Given the description of an element on the screen output the (x, y) to click on. 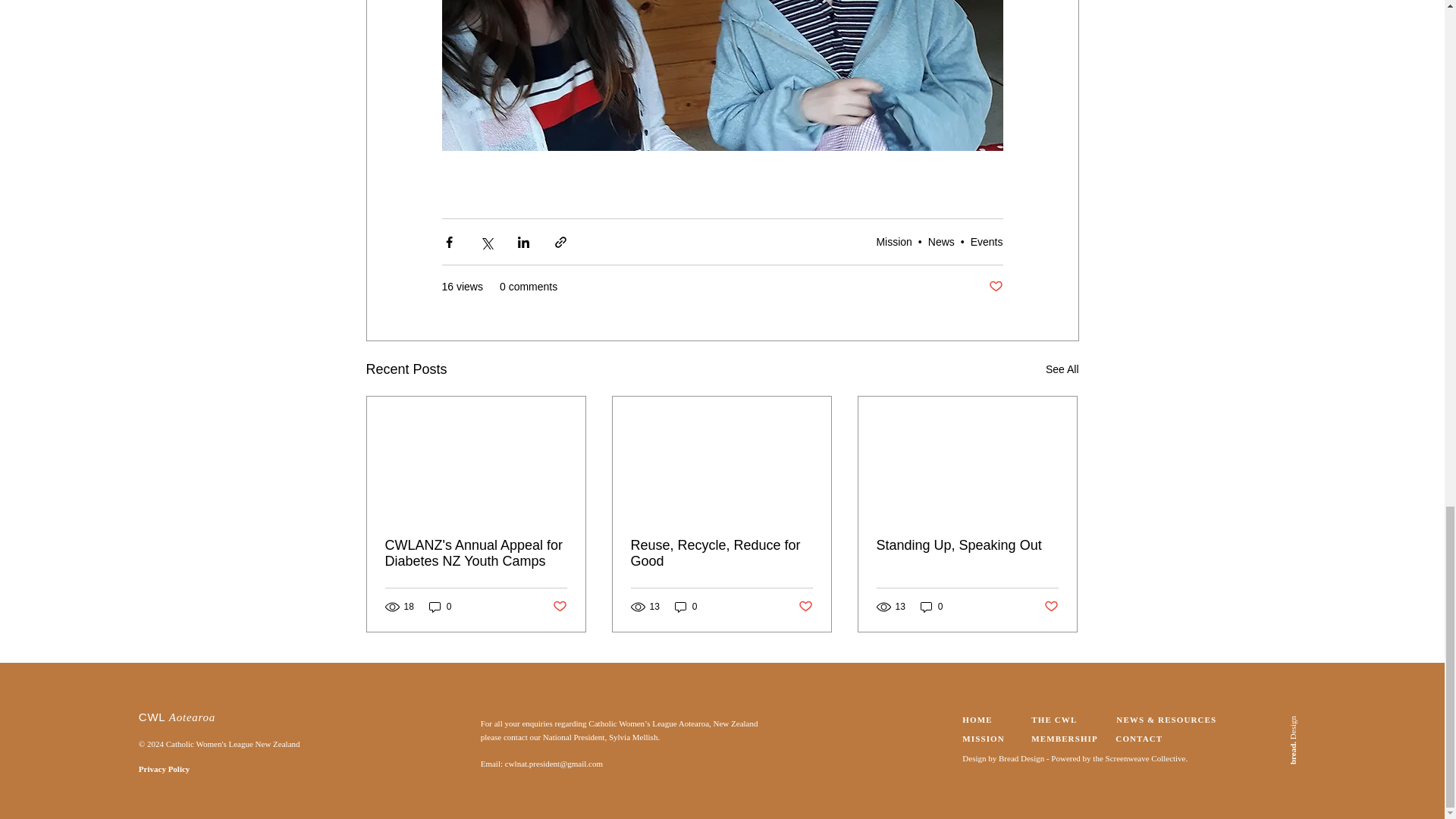
0 (440, 606)
News (941, 241)
0 (685, 606)
Reuse, Recycle, Reduce for Good (721, 553)
Events (987, 241)
See All (1061, 369)
CWLANZ's Annual Appeal for Diabetes NZ Youth Camps (476, 553)
Mission (893, 241)
Post not marked as liked (558, 606)
Post not marked as liked (995, 286)
Post not marked as liked (804, 606)
